Given the description of an element on the screen output the (x, y) to click on. 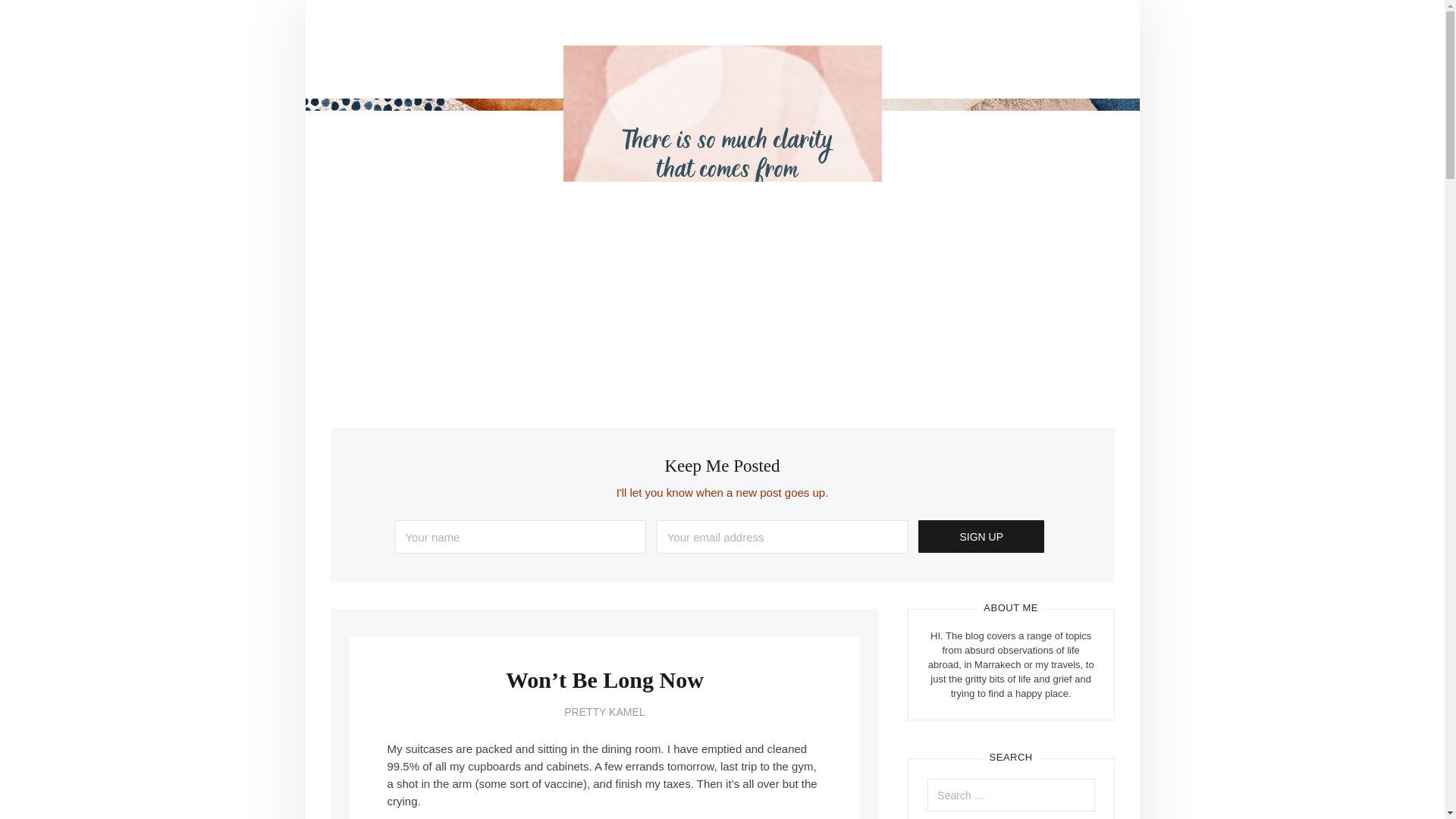
Search (41, 16)
Sign up (980, 536)
PRETTY KAMEL (604, 711)
Sign up (980, 536)
